Given the description of an element on the screen output the (x, y) to click on. 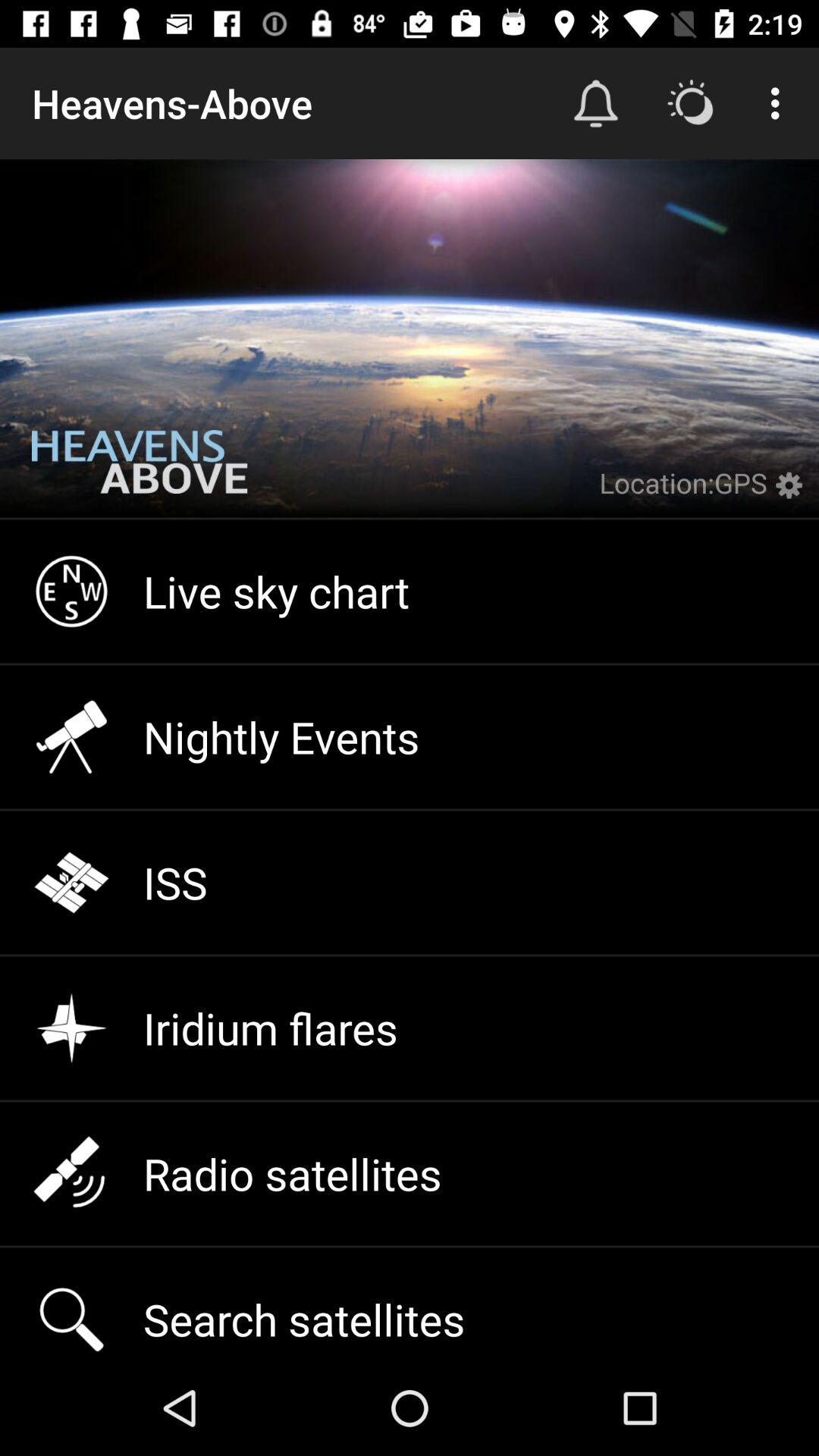
scroll to iridium flares icon (409, 1027)
